Given the description of an element on the screen output the (x, y) to click on. 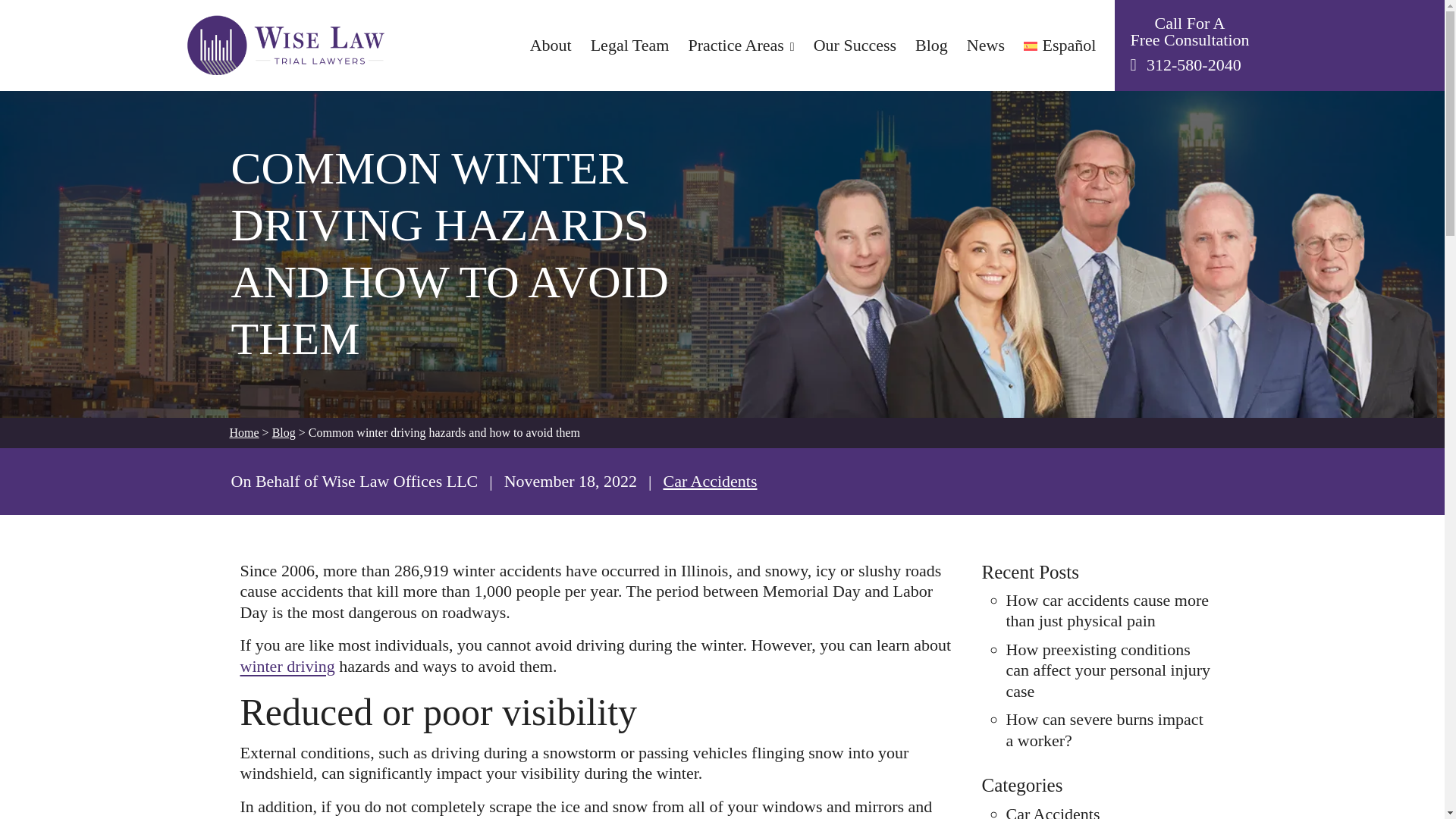
Our Success (854, 45)
Legal Team (630, 45)
How car accidents cause more than just physical pain (1107, 610)
Practice Areas (740, 45)
312-580-2040 (1194, 64)
How can severe burns impact a worker? (1104, 730)
Car Accidents (1052, 811)
Blog (283, 431)
Home (243, 431)
About (550, 45)
Go to Wise Law Offices LLC. (243, 431)
Car Accidents (709, 480)
News (985, 45)
Blog (931, 45)
